Given the description of an element on the screen output the (x, y) to click on. 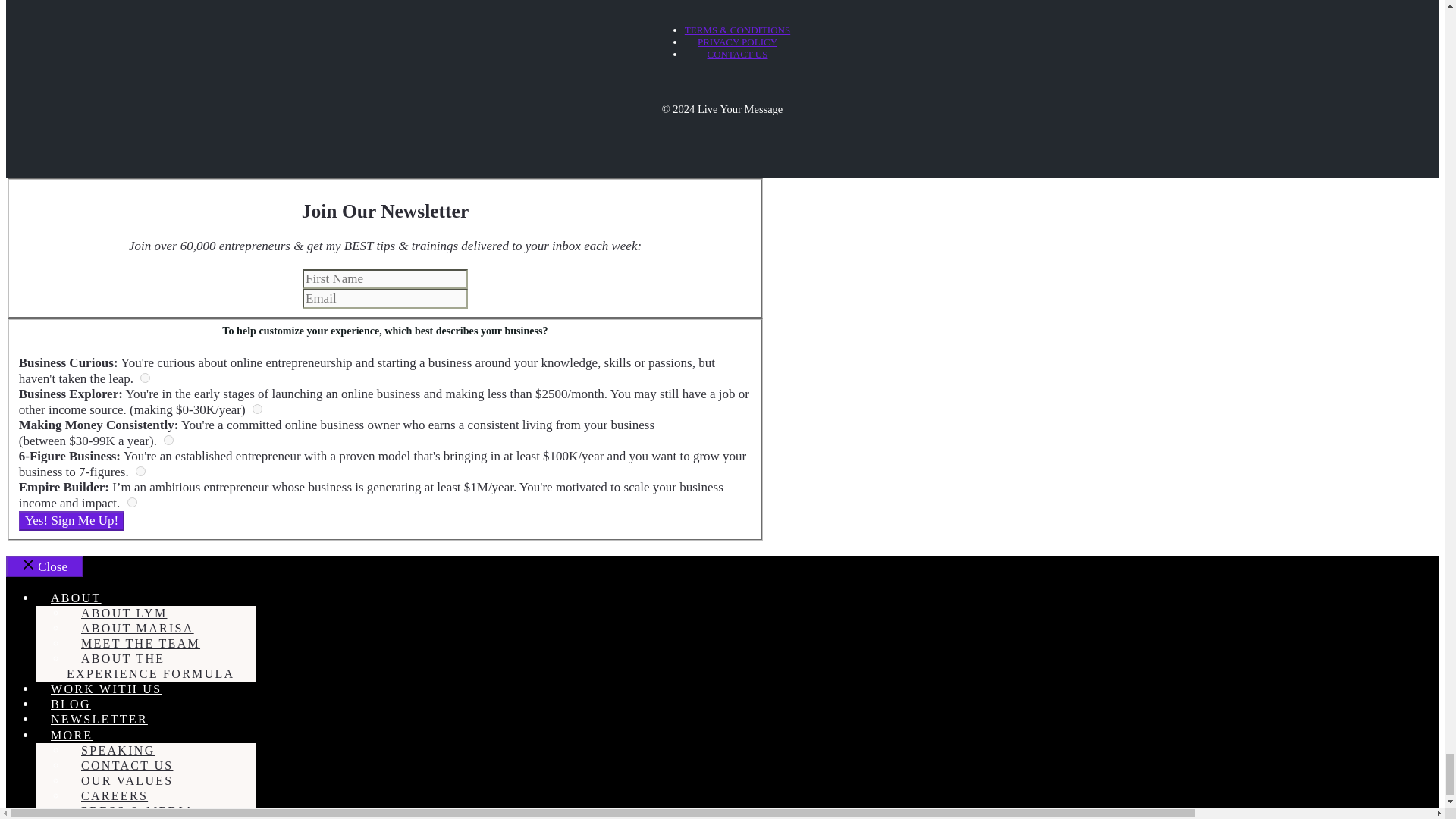
authority (140, 470)
callme (256, 409)
empire (132, 501)
listbuild (168, 439)
bluesky (144, 378)
